Given the description of an element on the screen output the (x, y) to click on. 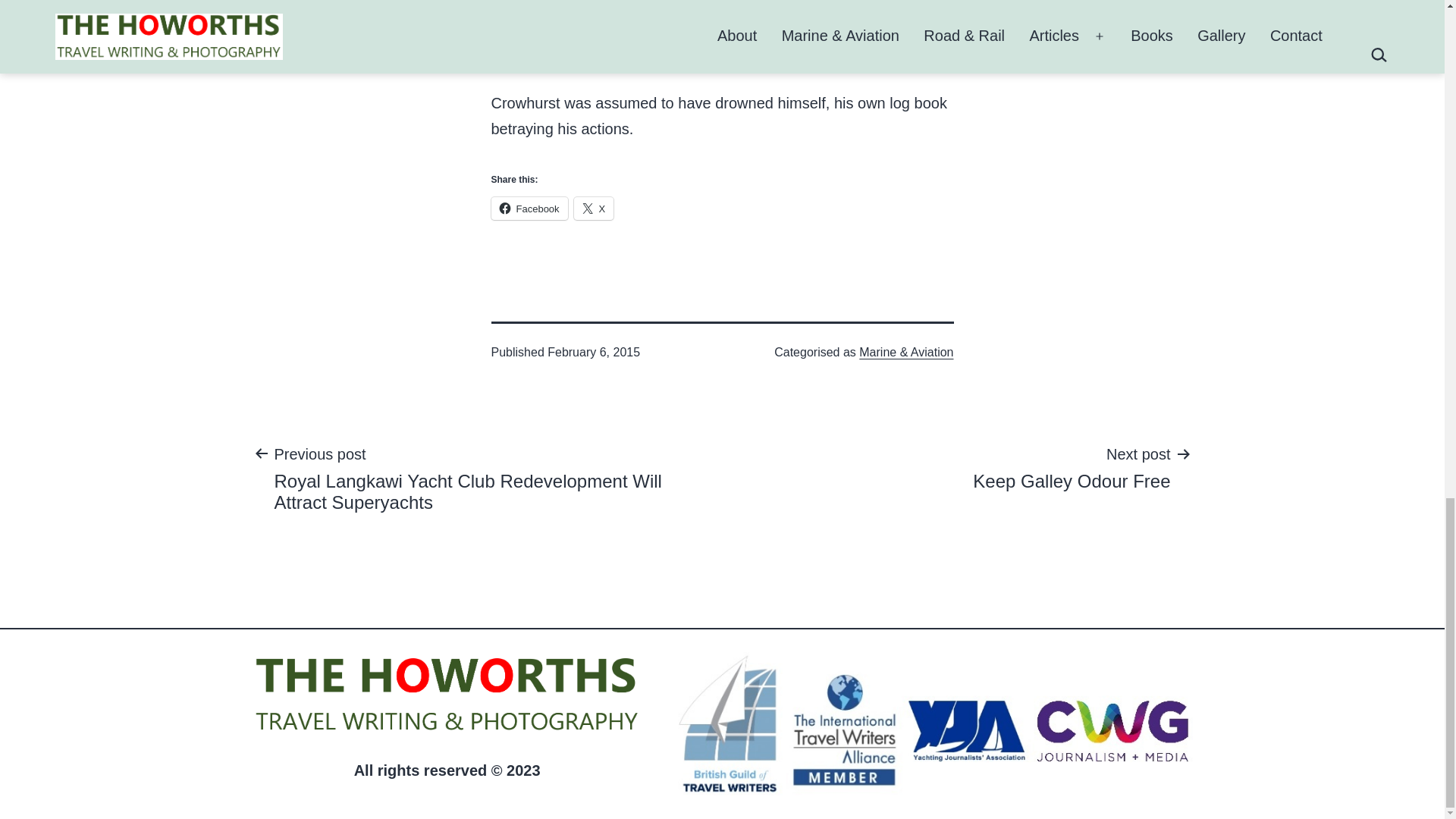
X (593, 208)
Click to share on X (593, 208)
Click to share on Facebook (1071, 467)
Facebook (529, 208)
